Given the description of an element on the screen output the (x, y) to click on. 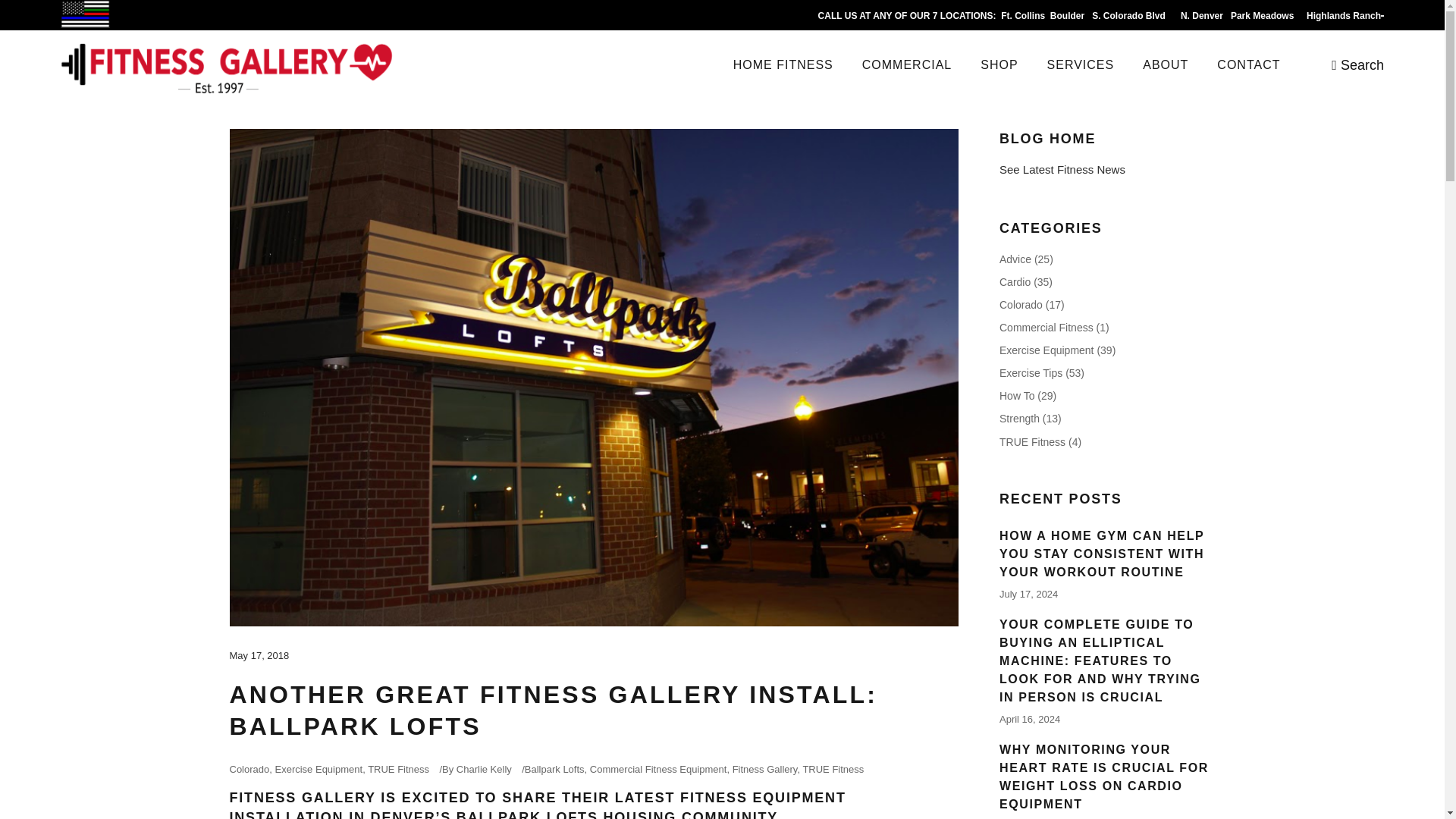
Search (1358, 63)
CONTACT (1248, 64)
HOME FITNESS (783, 64)
Ft. Collins (1023, 15)
Highlands Ranch (1343, 15)
Park Meadows (1263, 15)
S. Colorado Blvd (1129, 15)
Boulder (1068, 15)
SERVICES (1080, 64)
